Given the description of an element on the screen output the (x, y) to click on. 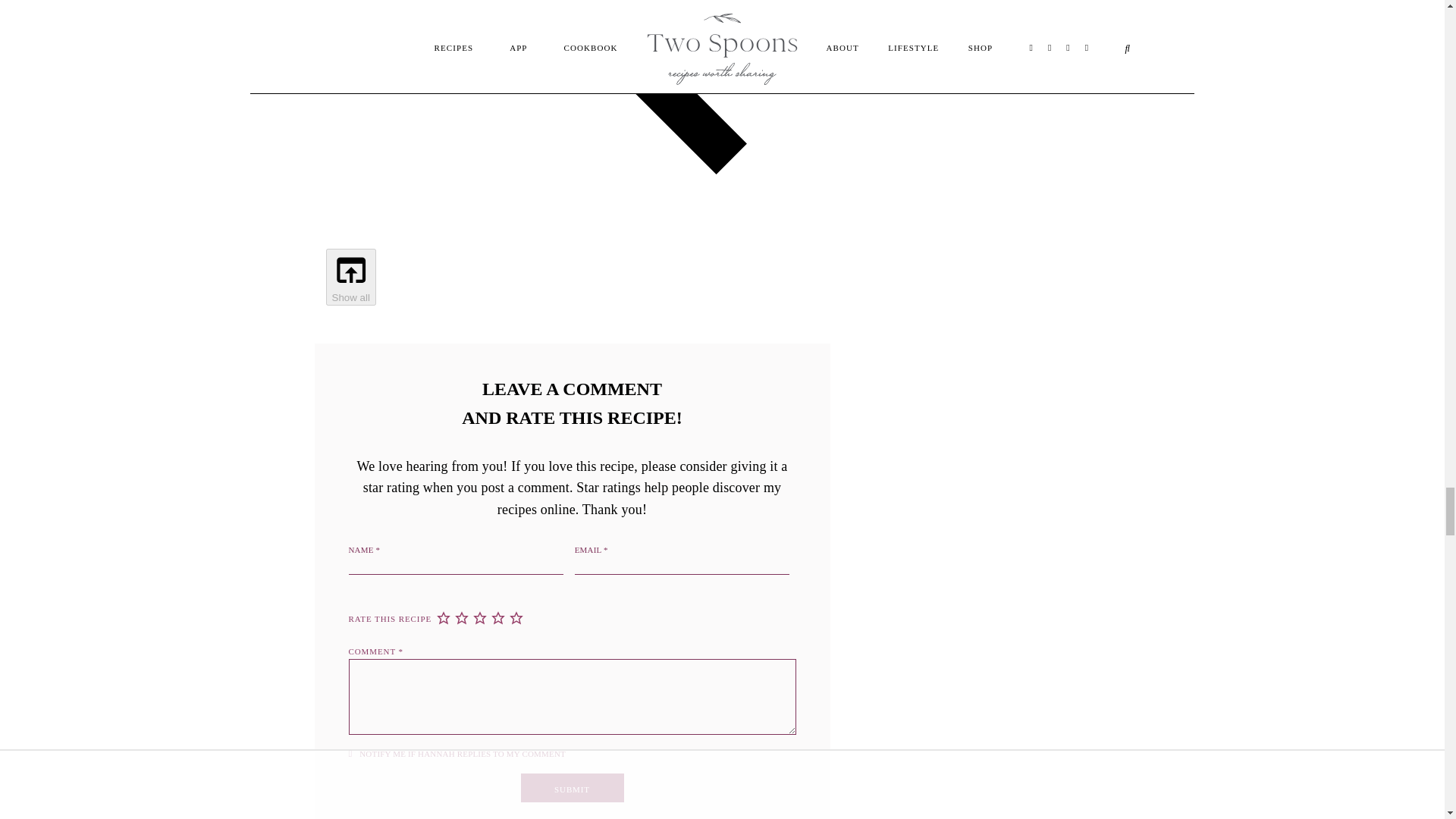
SUBMIT (571, 787)
SUBMIT (571, 787)
